Given the description of an element on the screen output the (x, y) to click on. 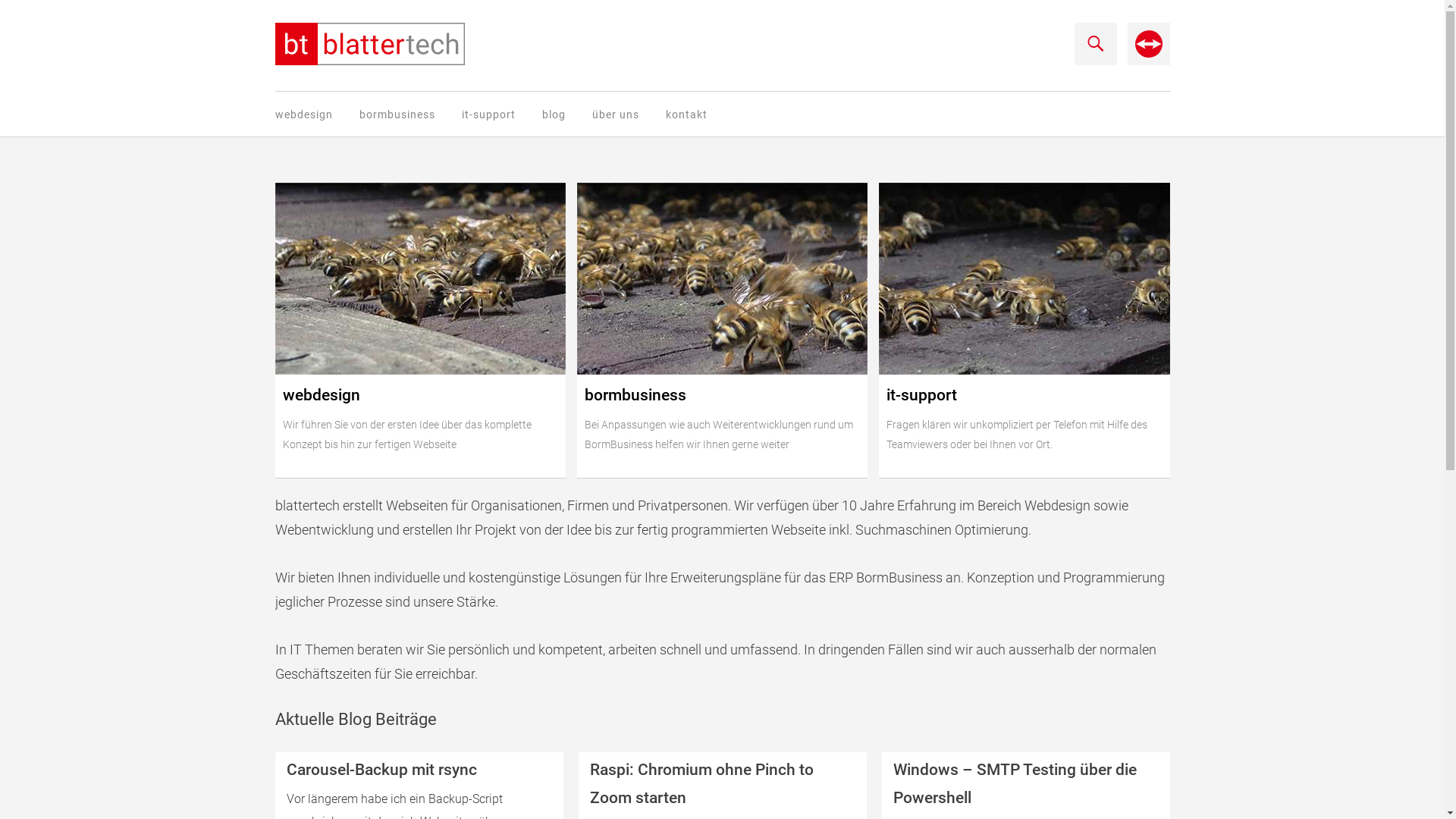
Raspi: Chromium ohne Pinch to Zoom starten Element type: text (721, 784)
blattertech informatik Element type: hover (369, 43)
Carousel-Backup mit rsync Element type: text (418, 769)
blog Element type: text (552, 114)
bormbusiness Element type: text (397, 114)
webdesign Element type: text (303, 114)
kontakt Element type: text (686, 114)
Support per Teamviewer erhalten Element type: hover (1147, 60)
Suche Element type: text (28, 13)
it-support Element type: text (487, 114)
